Given the description of an element on the screen output the (x, y) to click on. 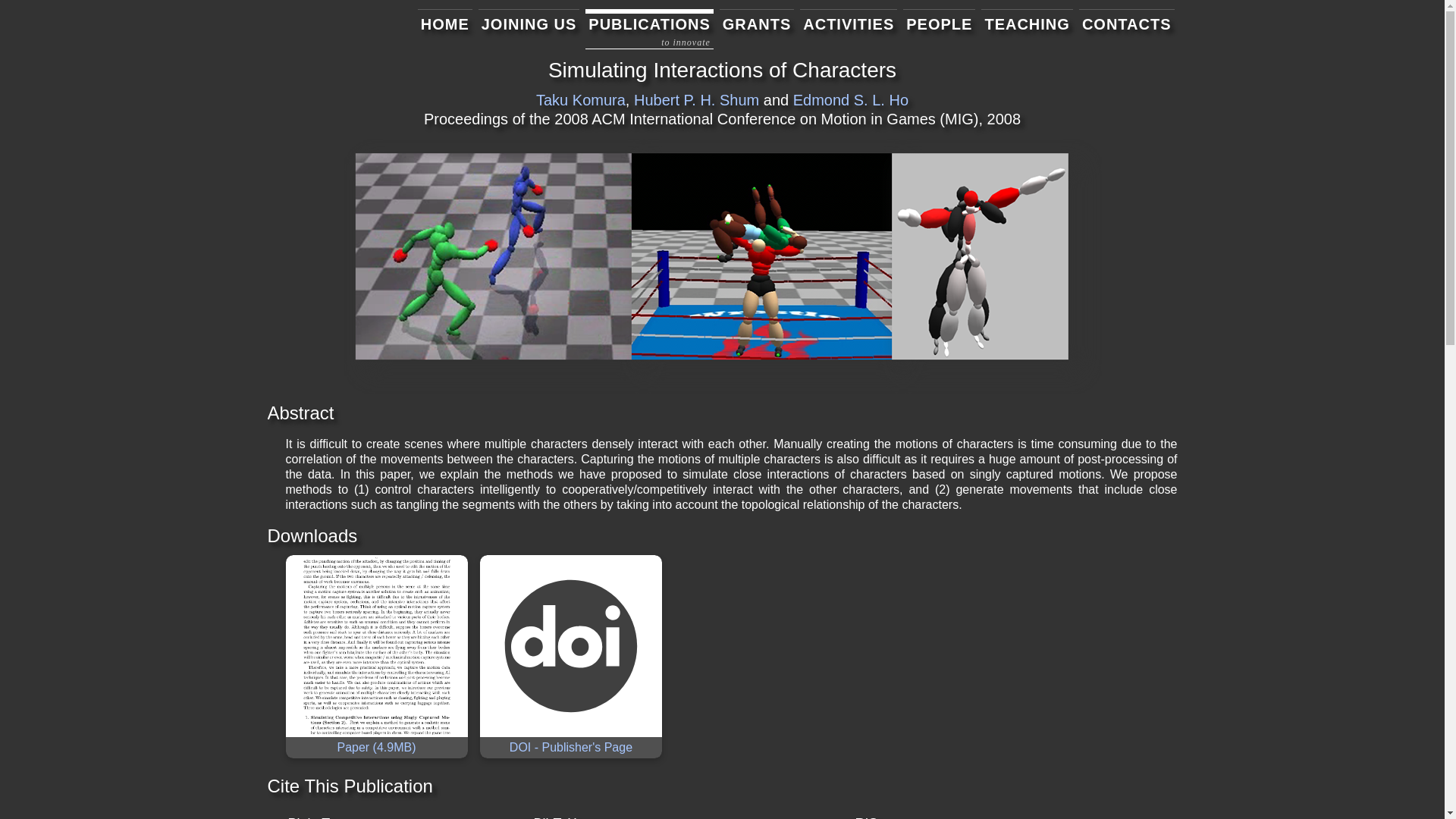
CONTACTS (1126, 28)
ACTIVITIES (847, 28)
JOINING US (529, 28)
HOME (444, 28)
Hubert P. H. Shum (695, 99)
GRANTS (756, 28)
TEACHING (1026, 28)
Taku Komura (580, 99)
DOI - Publisher's Page (570, 747)
Edmond S. L. Ho (850, 99)
